Given the description of an element on the screen output the (x, y) to click on. 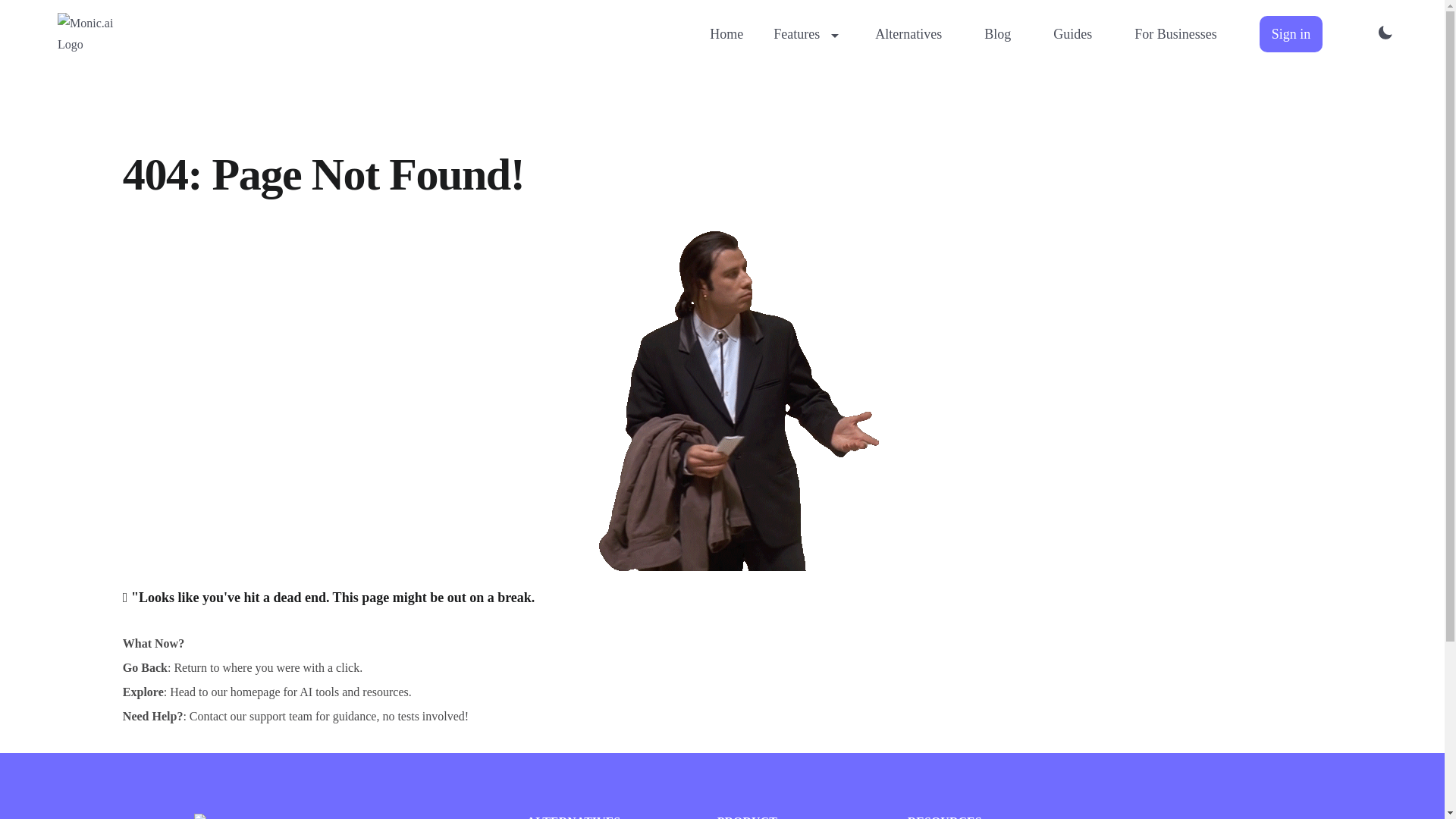
Home (726, 33)
For Businesses (1176, 33)
Blog (997, 33)
Alternatives (907, 33)
Guides (1072, 33)
Sign in (1291, 33)
